Given the description of an element on the screen output the (x, y) to click on. 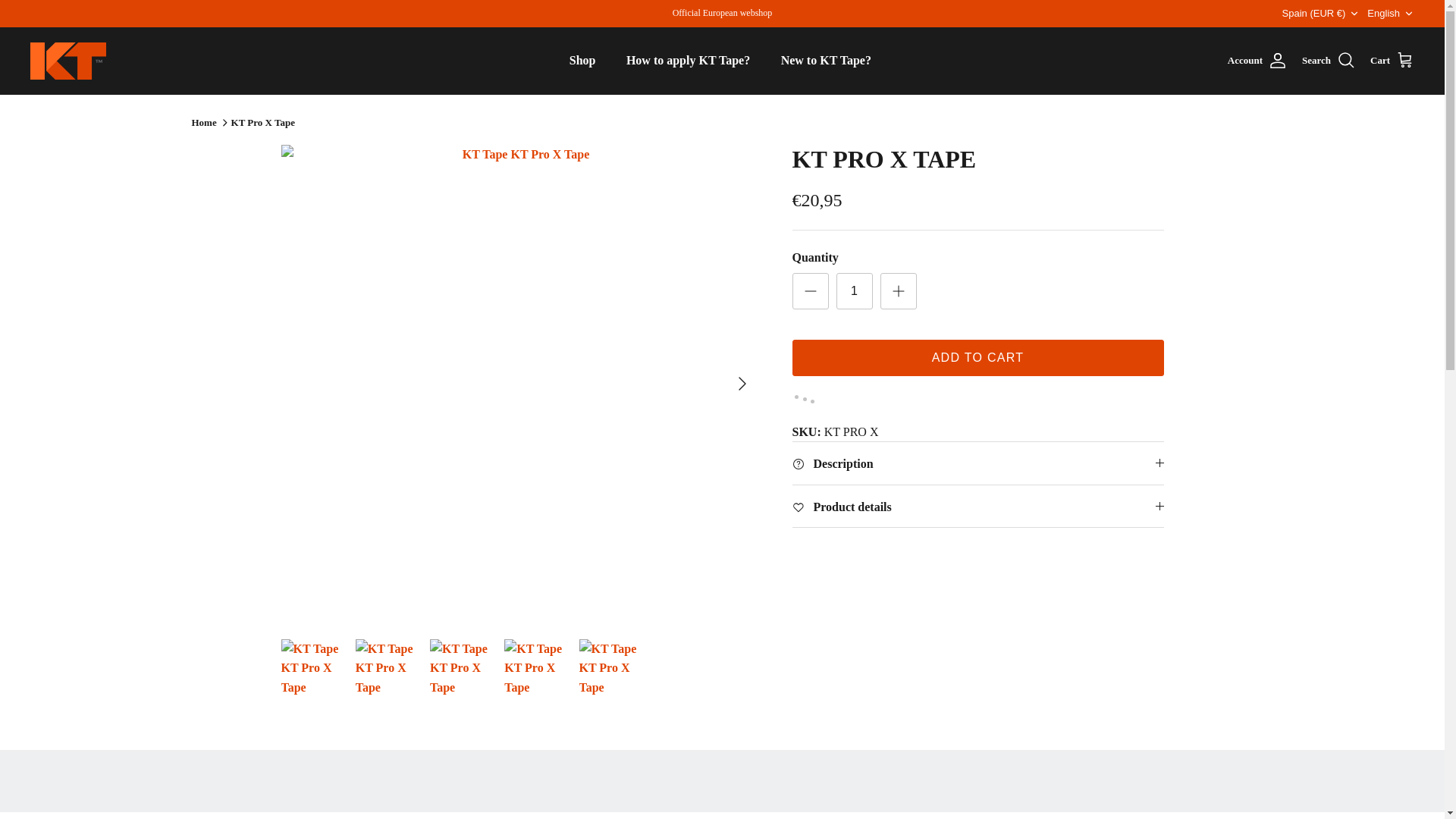
RIGHT (741, 383)
Down (1354, 13)
New to KT Tape? (826, 60)
Search (1328, 60)
Minus (809, 290)
Shop (1390, 13)
Down (583, 60)
Plus (1408, 13)
Cart (897, 290)
